Given the description of an element on the screen output the (x, y) to click on. 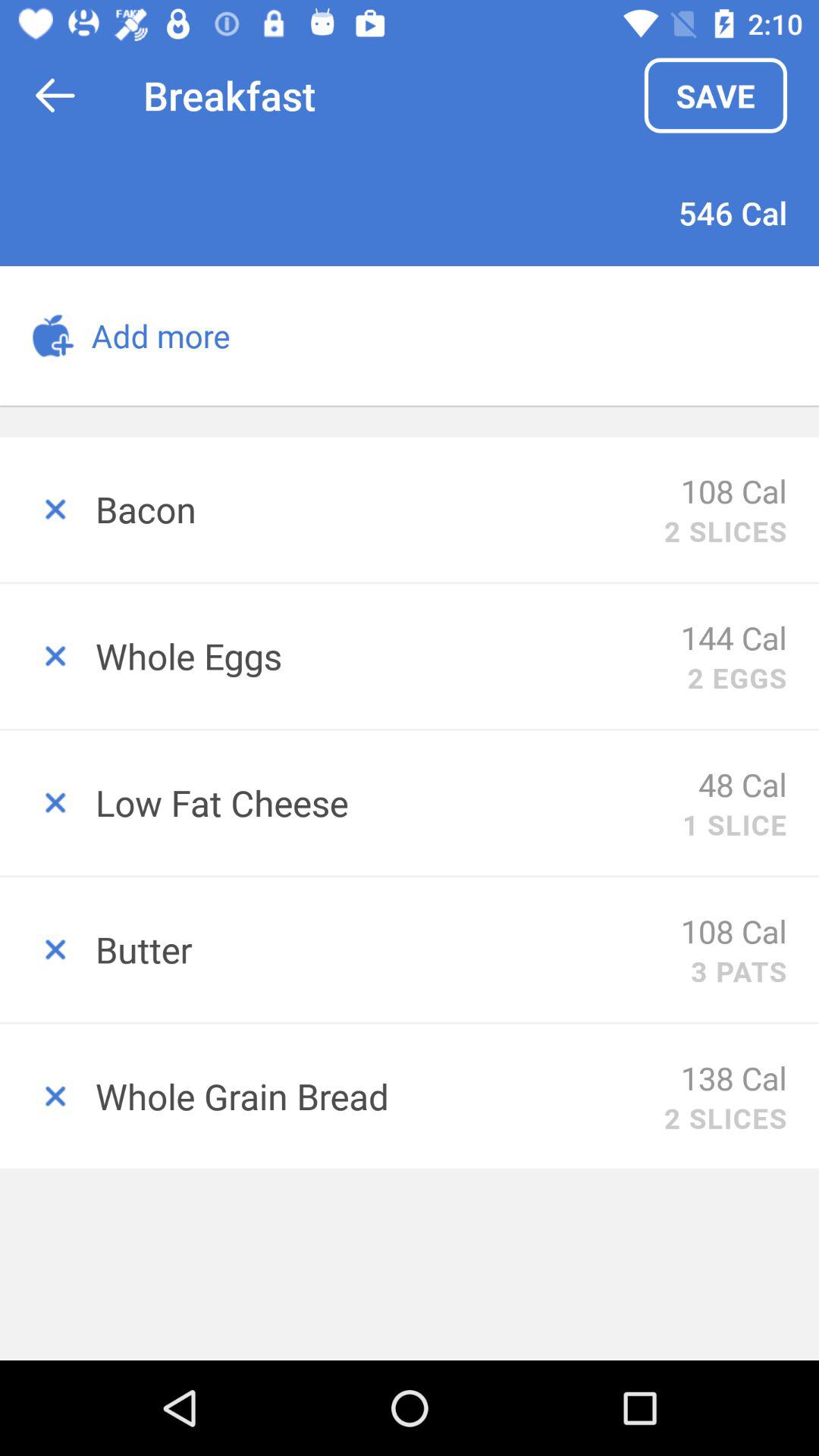
close the page (47, 1096)
